Given the description of an element on the screen output the (x, y) to click on. 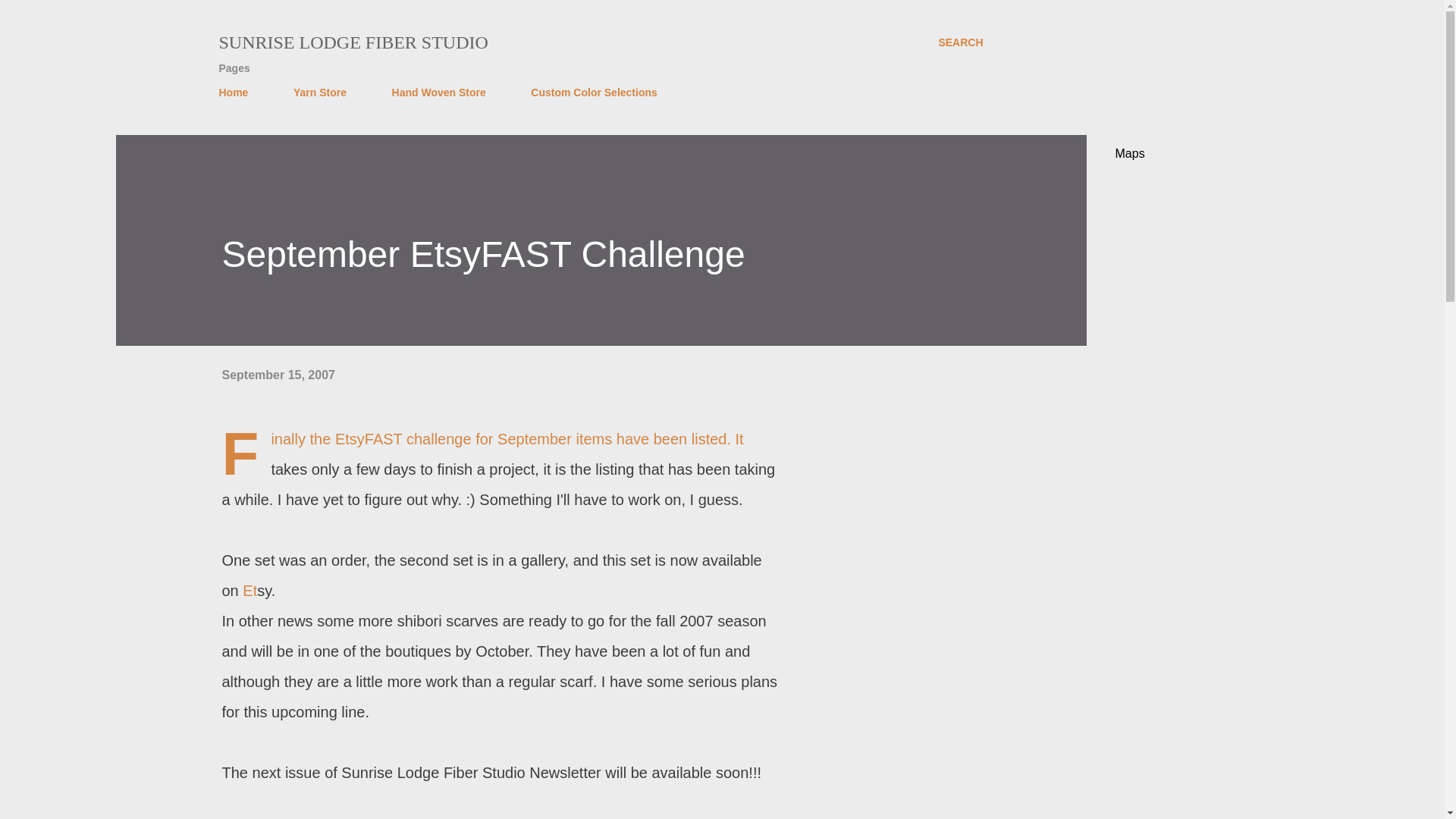
SUNRISE LODGE FIBER STUDIO (352, 42)
NEWSLETTER (457, 815)
SHIBORI (519, 815)
Home (237, 91)
SEARCH (959, 42)
September 15, 2007 (277, 374)
Hand Woven Store (438, 91)
WAFFLE WEAVE (587, 815)
Custom Color Selections (593, 91)
SHARE (764, 814)
